Given the description of an element on the screen output the (x, y) to click on. 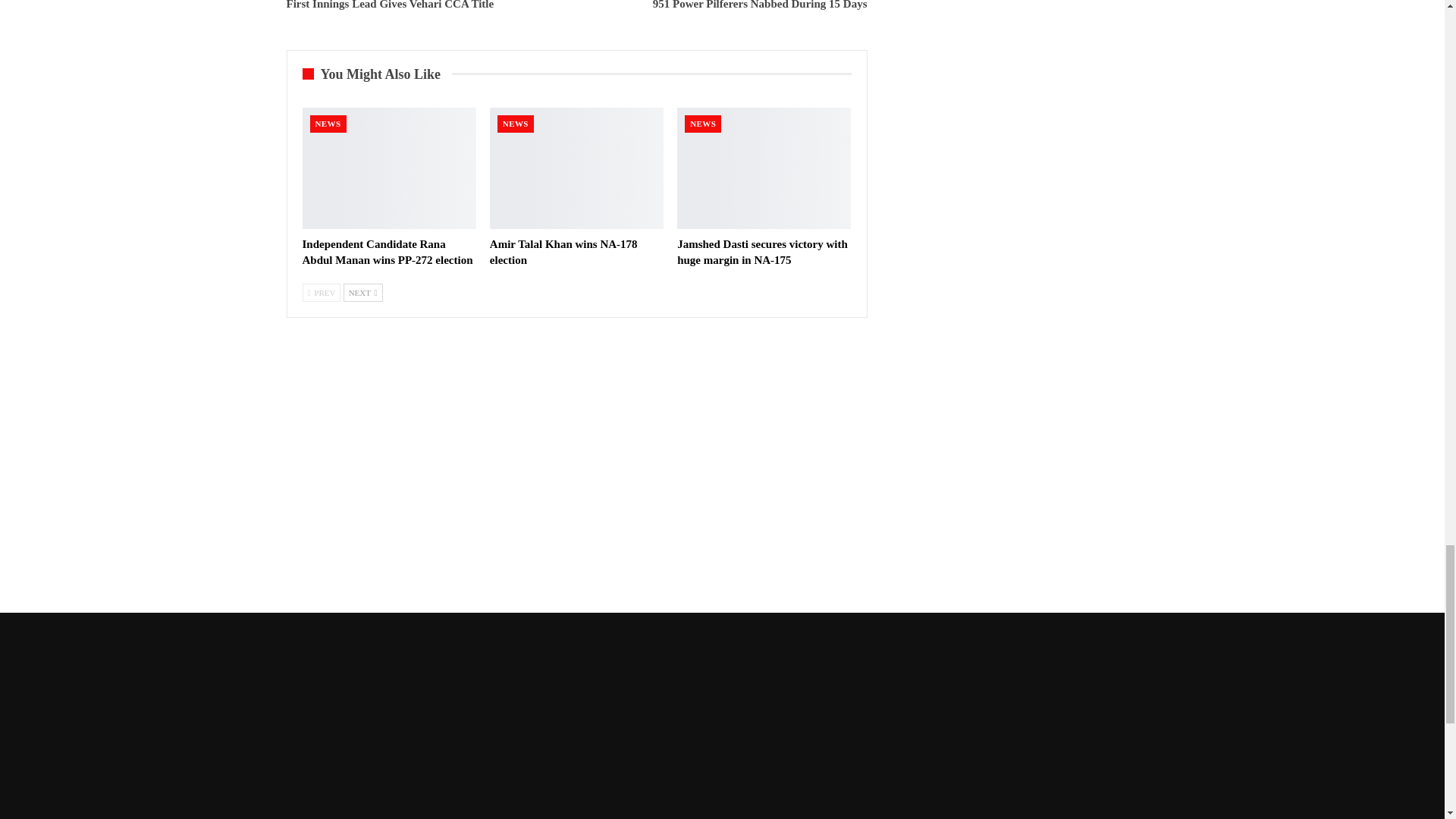
Amir Talal Khan wins NA-178 election (563, 252)
Amir Talal Khan wins NA-178 election (576, 168)
Independent Candidate Rana Abdul Manan wins PP-272 election (386, 252)
Independent Candidate Rana Abdul Manan wins PP-272 election (388, 168)
Jamshed Dasti secures victory with huge margin in NA-175 (763, 168)
